Given the description of an element on the screen output the (x, y) to click on. 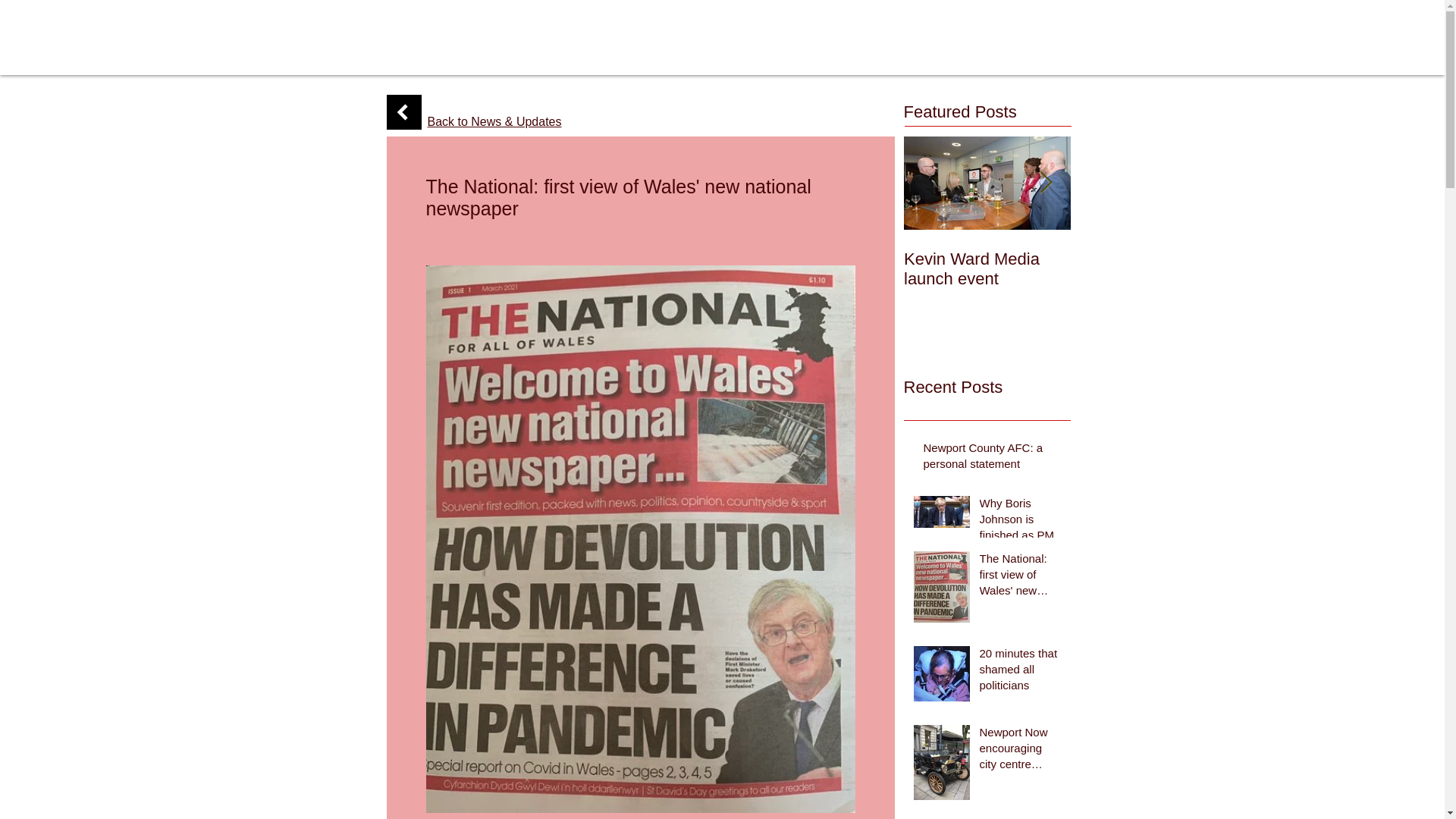
The National: first view of Wales' new national newspaper (1020, 577)
Newport Now encouraging city centre visitors (1020, 750)
20 minutes that shamed all politicians (1020, 672)
Kevin Ward Media launch event (987, 269)
Why Boris Johnson is finished as PM (1020, 521)
The Tragedy and The Shame of Aberfan (1153, 269)
Newport County AFC: a personal statement (992, 458)
